Given the description of an element on the screen output the (x, y) to click on. 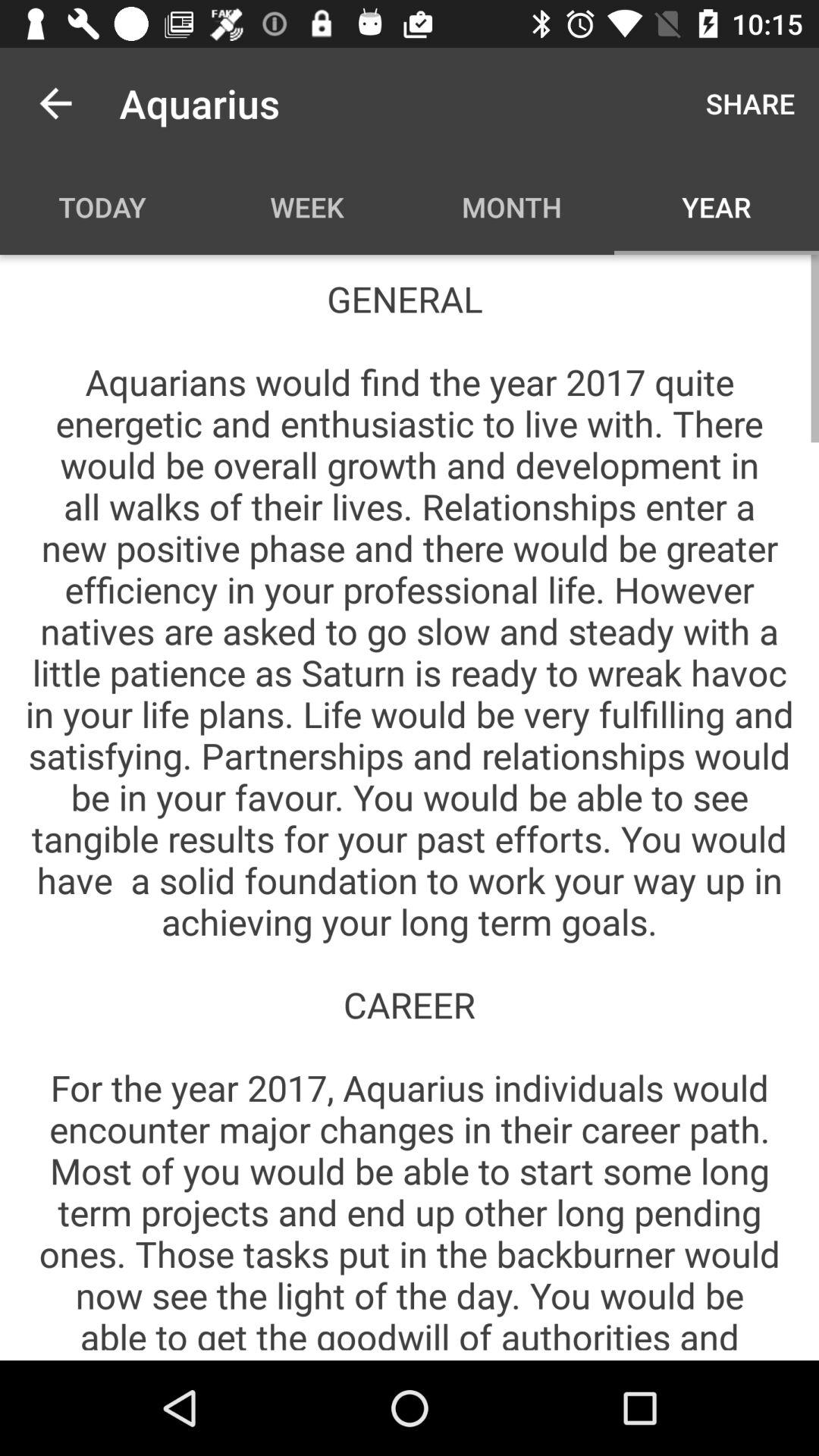
tap item above year item (750, 103)
